Given the description of an element on the screen output the (x, y) to click on. 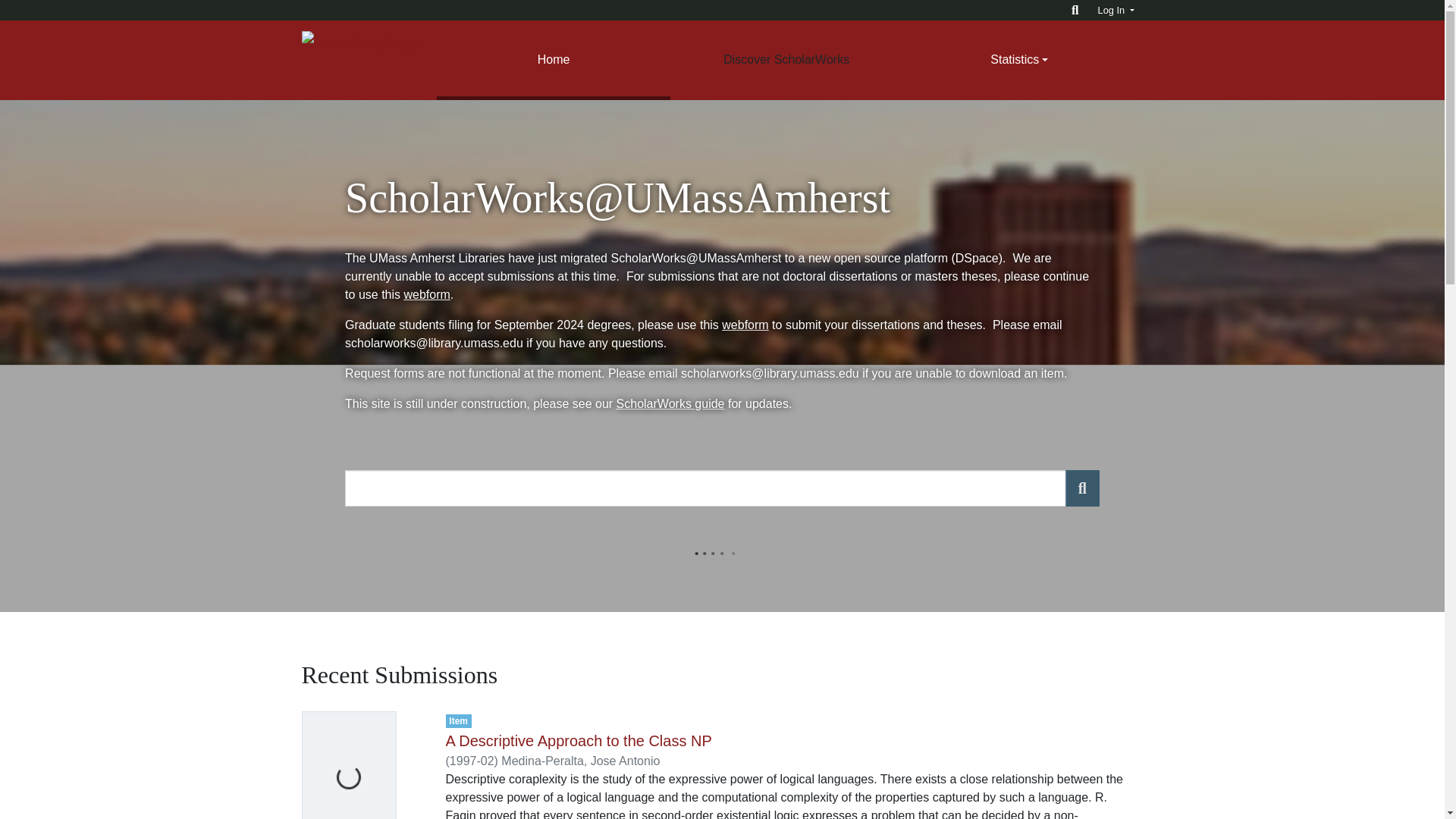
webform (426, 294)
Search (1082, 488)
Home (552, 59)
Home (552, 59)
Log In (1115, 9)
A Descriptive Approach to the Class NP (578, 740)
ScholarWorks guide (670, 403)
Statistics (1018, 59)
webform (745, 324)
if you are unable to download an item. (963, 373)
